Given the description of an element on the screen output the (x, y) to click on. 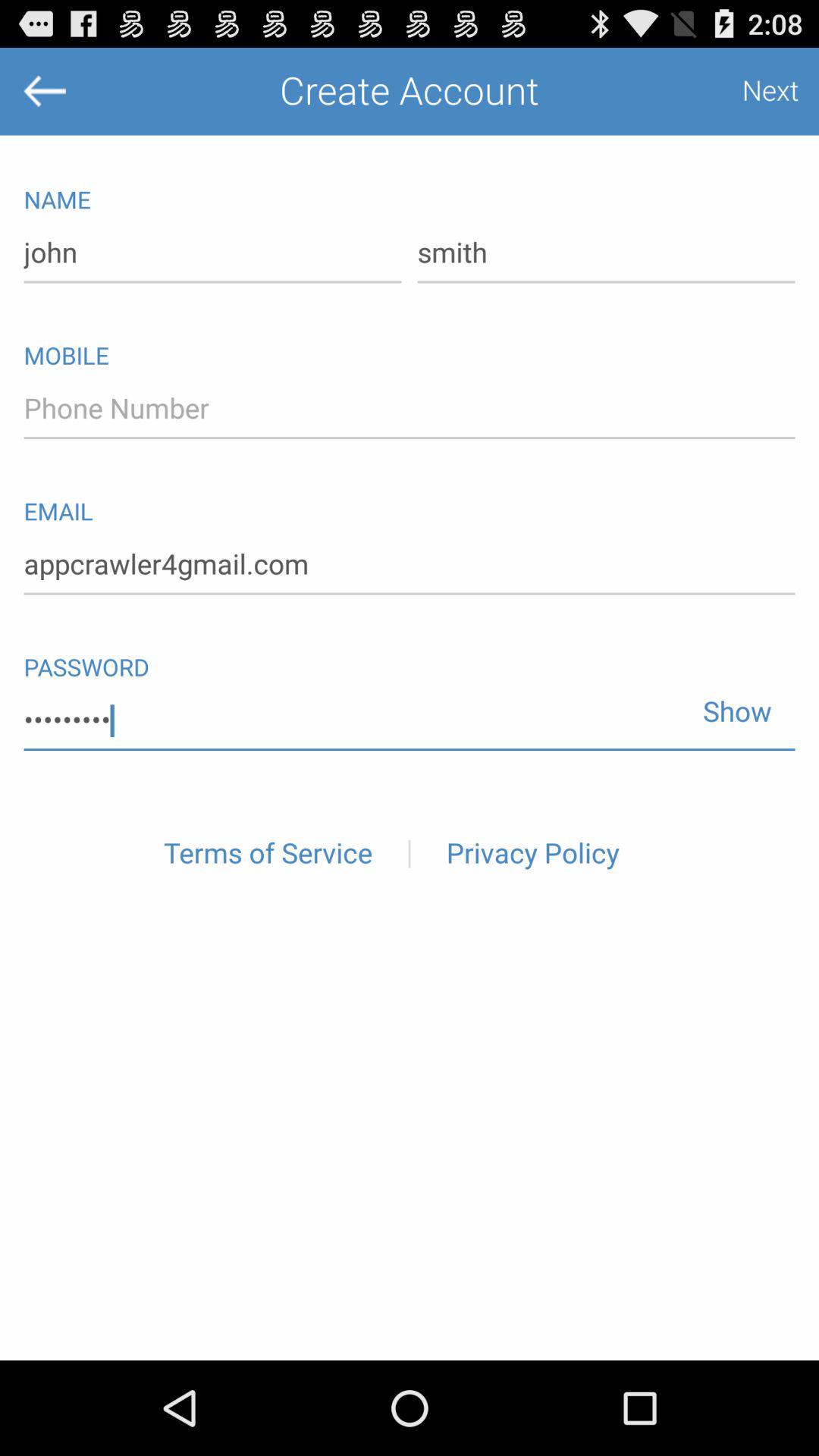
turn on item next to john (606, 253)
